Given the description of an element on the screen output the (x, y) to click on. 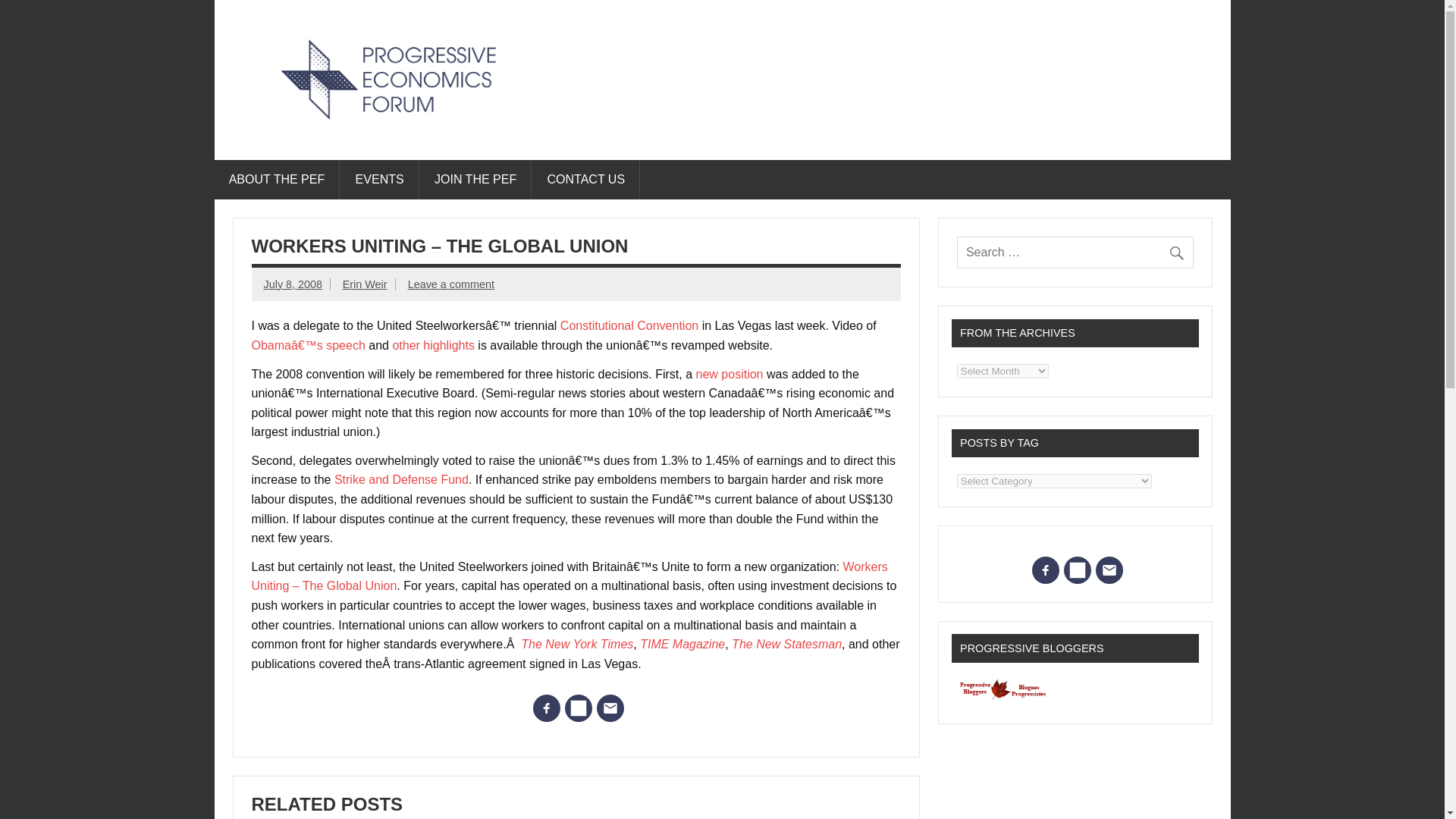
Leave a comment (451, 284)
1:41 pm (293, 284)
The New Statesman (786, 644)
View all posts by Erin Weir (364, 284)
ABOUT THE PEF (276, 179)
The New York Times (577, 644)
JOIN THE PEF (476, 179)
The Progressive Economics Forum (504, 138)
July 8, 2008 (293, 284)
new position (731, 373)
